Given the description of an element on the screen output the (x, y) to click on. 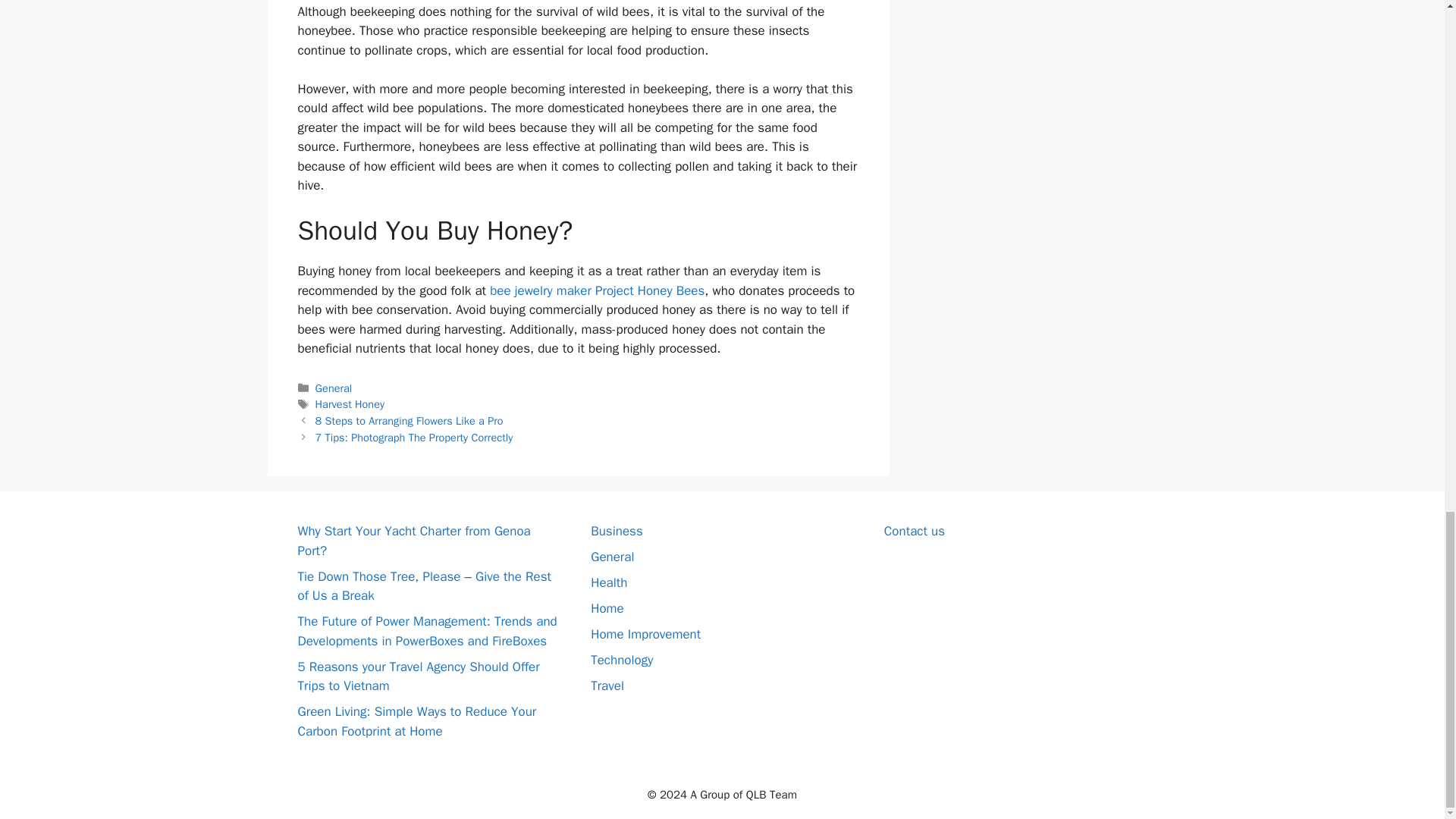
General (333, 387)
bee jewelry maker Project Honey Bees (596, 290)
Home Improvement (645, 634)
Technology (621, 659)
Travel (607, 685)
8 Steps to Arranging Flowers Like a Pro (409, 420)
5 Reasons your Travel Agency Should Offer Trips to Vietnam (417, 676)
Home (607, 608)
